Given the description of an element on the screen output the (x, y) to click on. 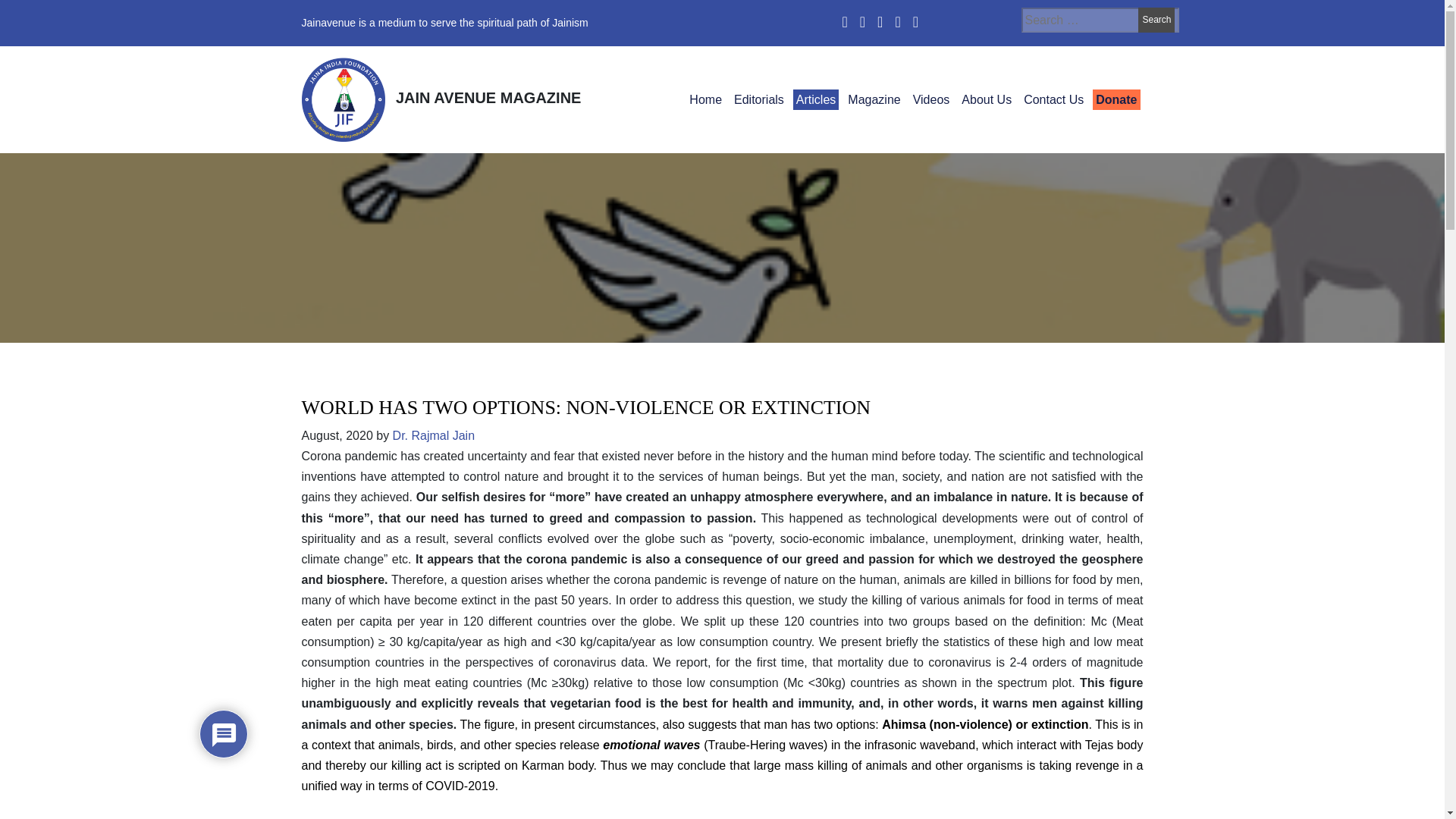
Contact Us (1053, 99)
Videos (931, 99)
Home (705, 99)
Search (1156, 19)
Articles (815, 99)
Search (1156, 19)
Editorials (758, 99)
Search (1156, 19)
Magazine (873, 99)
Donate (1116, 99)
Dr. Rajmal Jain (433, 435)
About Us (986, 99)
